Given the description of an element on the screen output the (x, y) to click on. 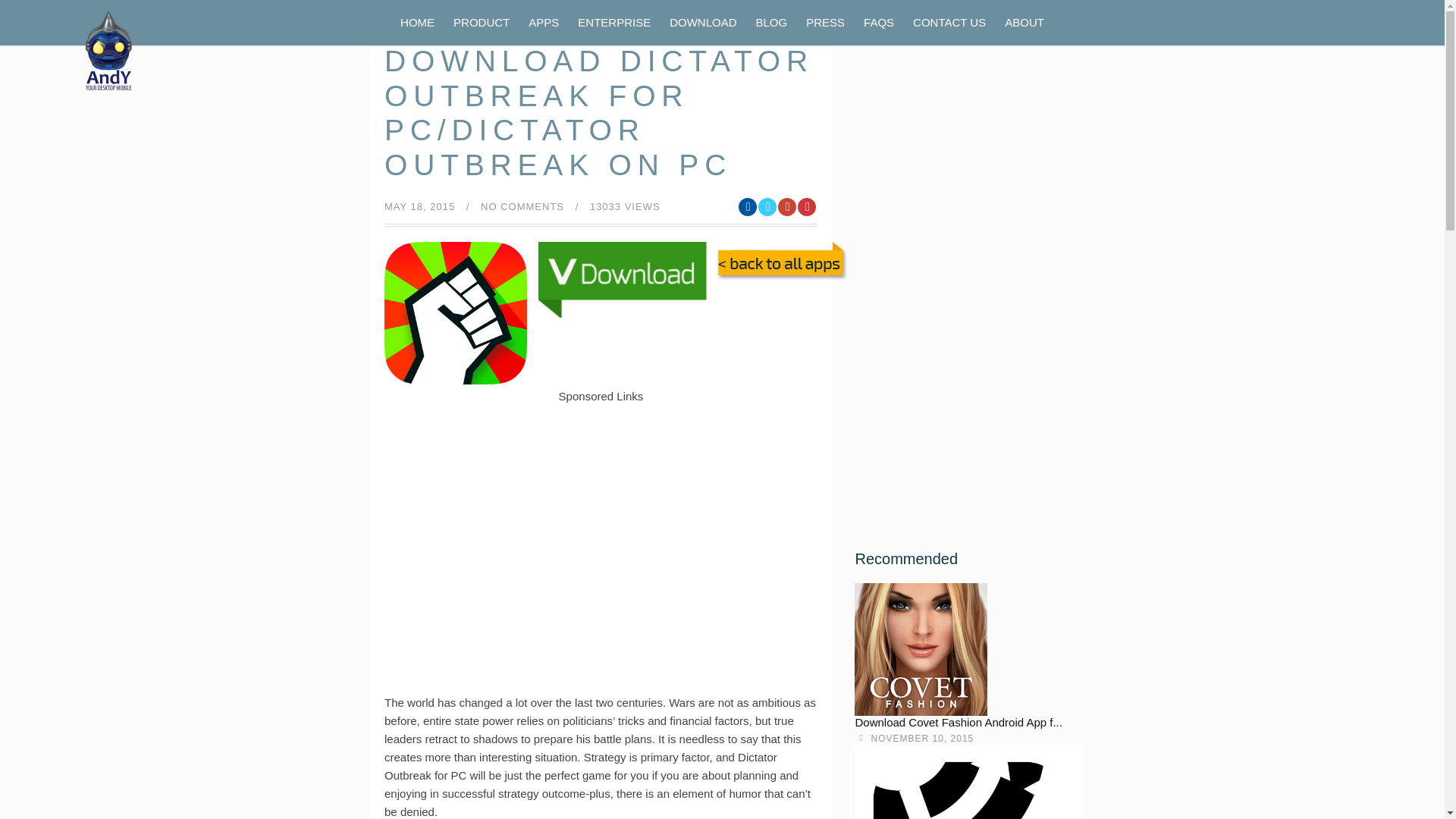
PRESS (825, 21)
FAQS (878, 21)
PRODUCT (480, 21)
ENTERPRISE (614, 21)
HOME (416, 21)
DOWNLOAD (702, 21)
NO COMMENTS (522, 205)
CONTACT US (948, 21)
ABOUT (1023, 21)
BLOG (771, 21)
